Given the description of an element on the screen output the (x, y) to click on. 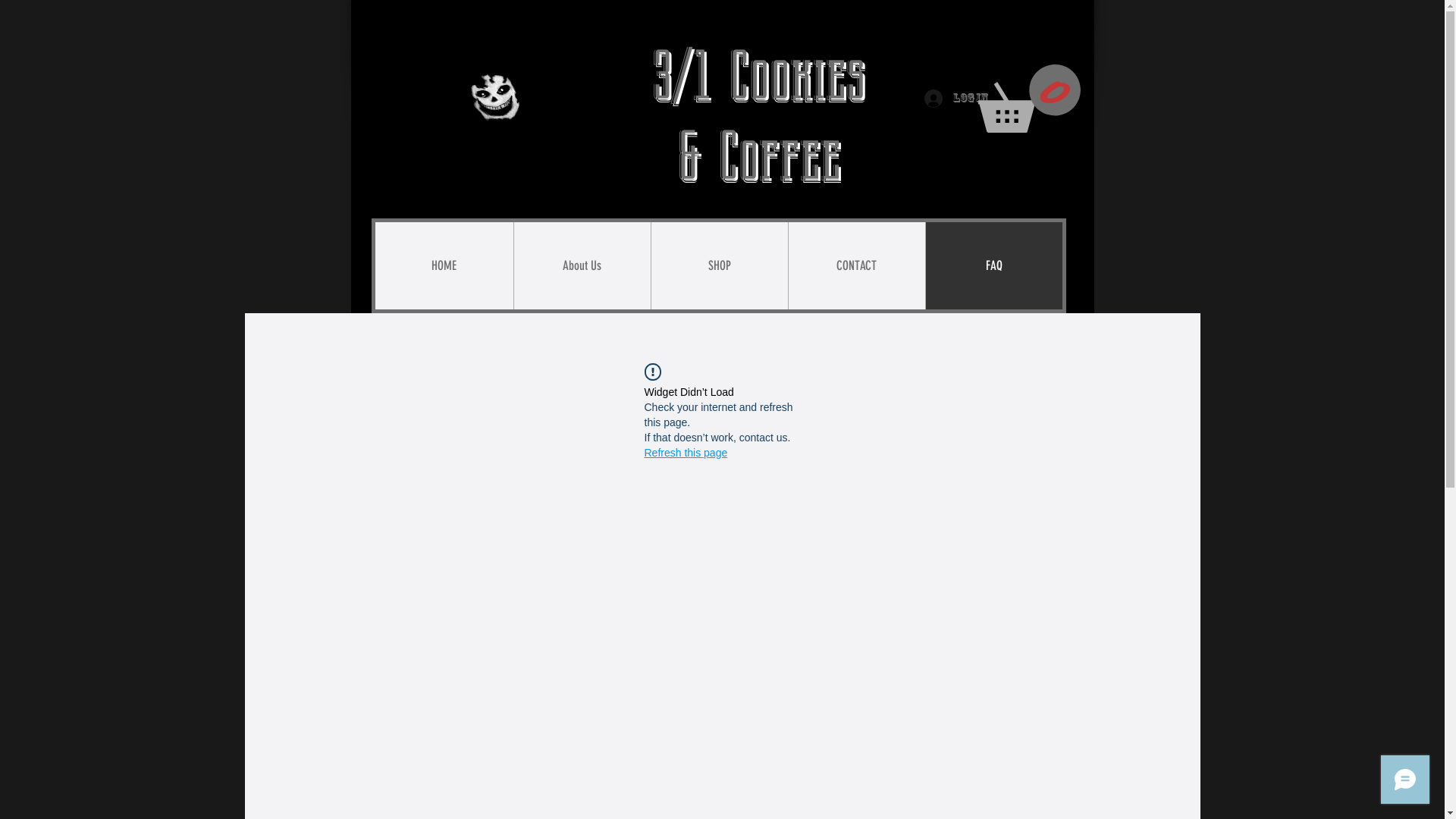
3/1 Cookies & Coffee Element type: text (758, 115)
Refresh this page Element type: text (686, 452)
HOME Element type: text (443, 265)
0 Element type: text (1029, 98)
Log In Element type: text (945, 98)
About Us Element type: text (580, 265)
SHOP Element type: text (718, 265)
FAQ Element type: text (993, 265)
CONTACT Element type: text (855, 265)
